Given the description of an element on the screen output the (x, y) to click on. 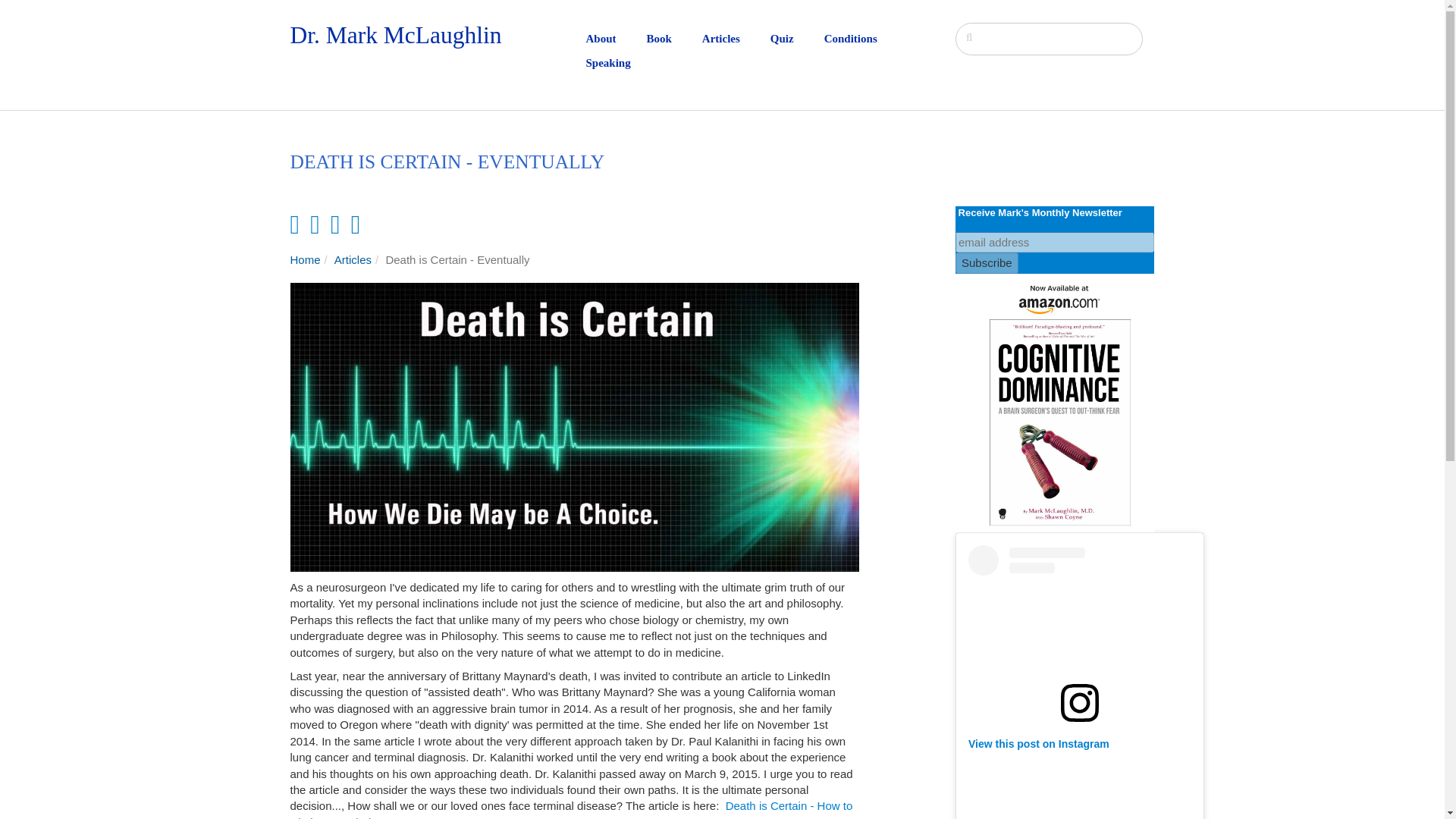
Conditions (865, 38)
View this post on Instagram (1038, 743)
Facebook (294, 224)
About (615, 38)
Articles (352, 259)
Get The Book (1054, 402)
Home (304, 259)
Death is Certain - How to Die is Your Choice (570, 809)
Speaking (623, 62)
Quiz (797, 38)
Book (673, 38)
Subscribe (986, 262)
Dr. Mark McLaughlin (394, 35)
LinkedIn (315, 224)
Articles (735, 38)
